Given the description of an element on the screen output the (x, y) to click on. 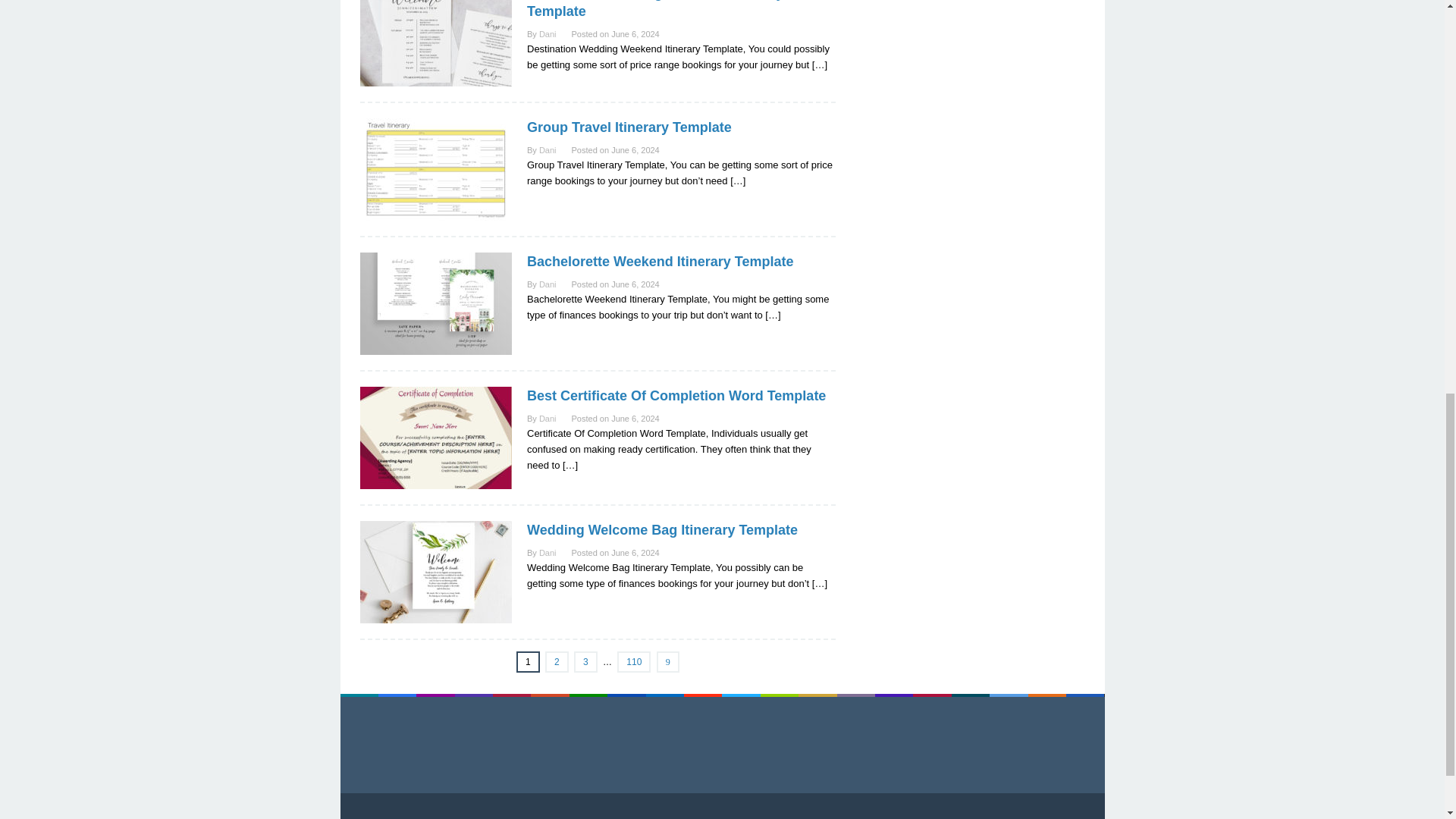
Destination Wedding Weekend Itinerary Template (655, 9)
Best Certificate Of Completion Word Template (676, 395)
Dani (547, 418)
Dani (547, 33)
Dani (547, 149)
Bachelorette Weekend Itinerary Template (660, 261)
Group Travel Itinerary Template (629, 127)
Dani (547, 284)
